Given the description of an element on the screen output the (x, y) to click on. 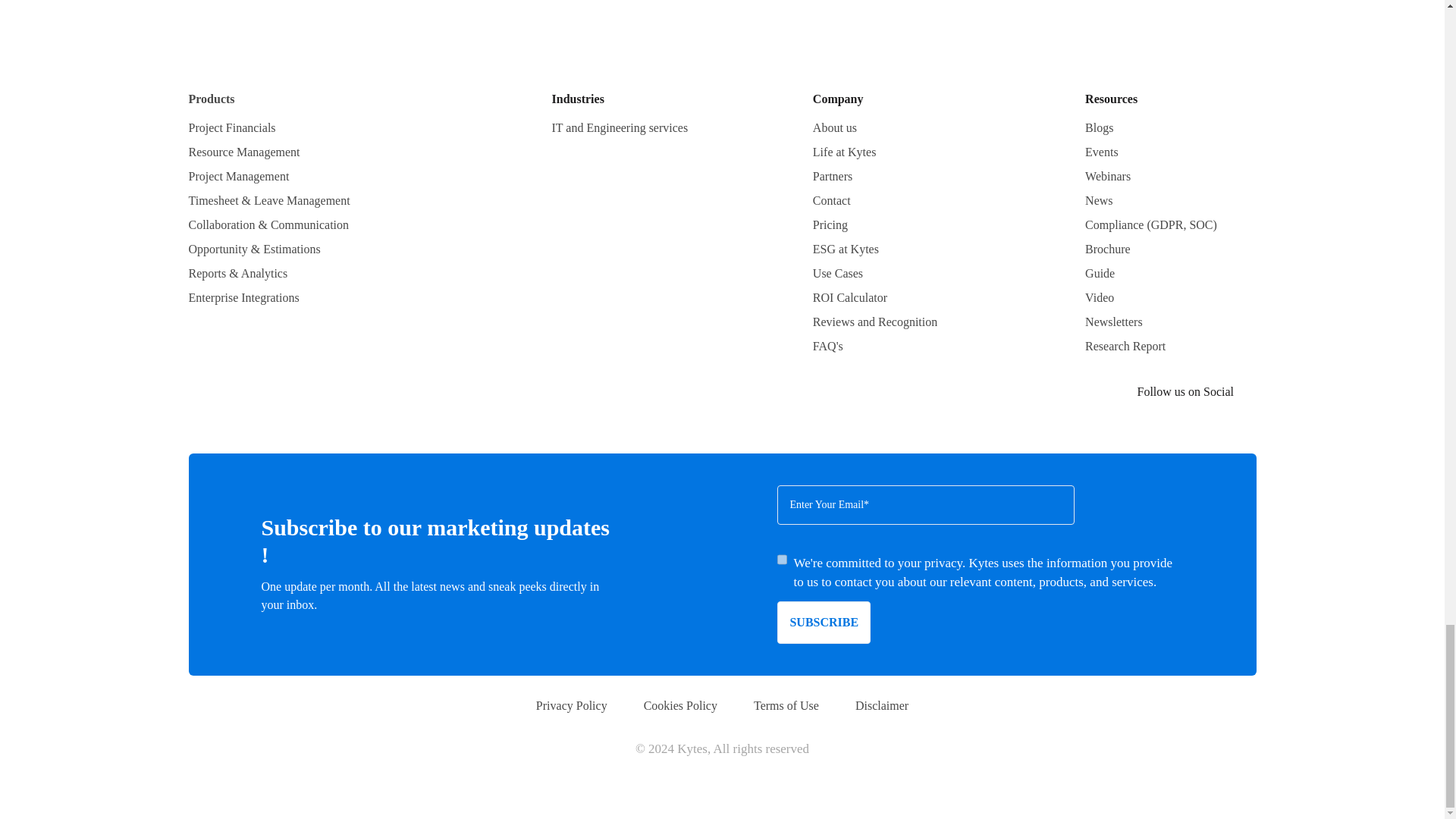
Subscribe (823, 622)
